Given the description of an element on the screen output the (x, y) to click on. 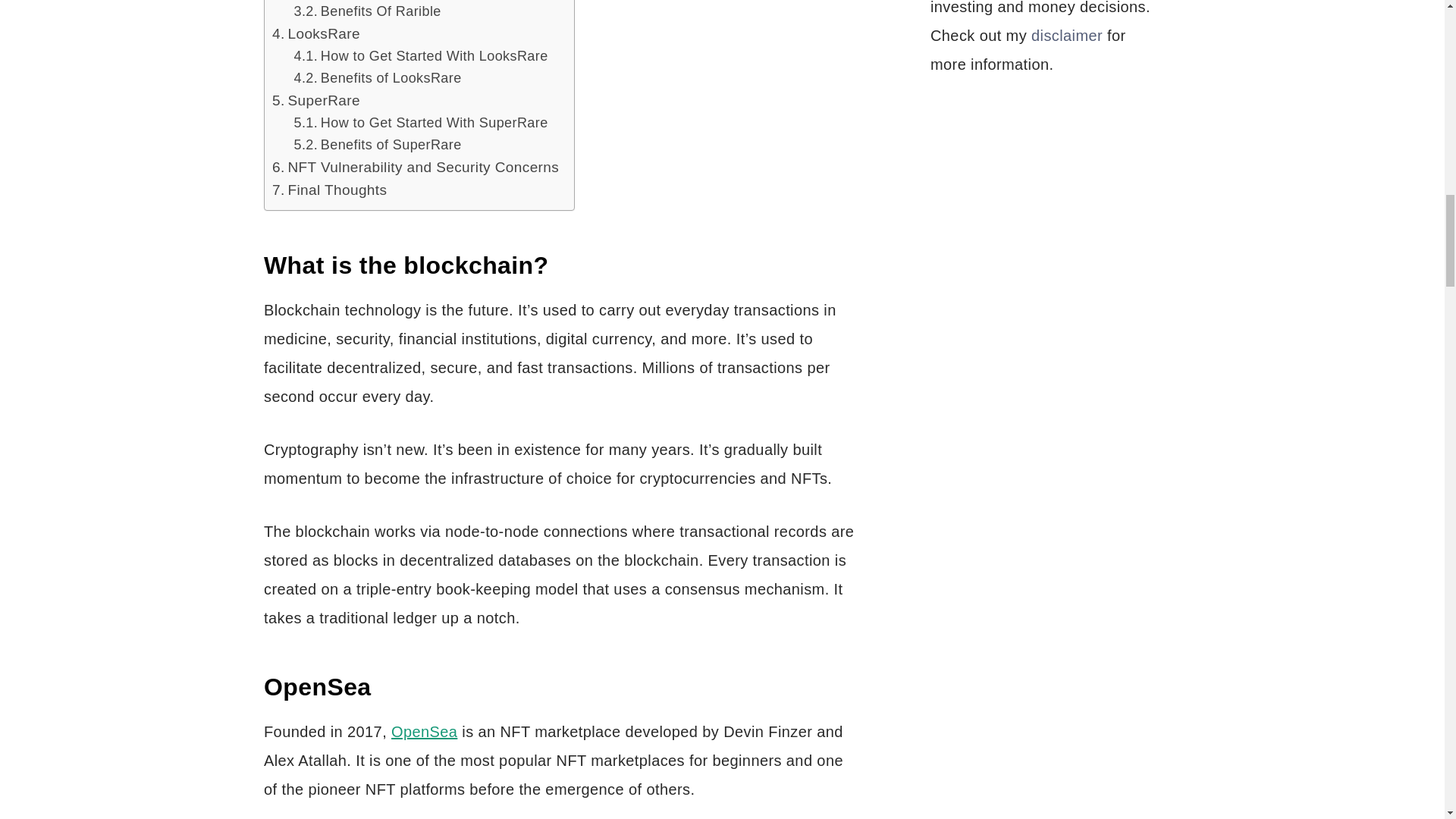
Benefits of LooksRare (377, 78)
LooksRare (315, 33)
SuperRare (315, 100)
NFT Vulnerability and Security Concerns (415, 167)
How to Get Started With SuperRare (421, 123)
Benefits of SuperRare (377, 145)
Final Thoughts (329, 190)
Benefits Of Rarible (367, 11)
How to Get Started With LooksRare (421, 56)
